Given the description of an element on the screen output the (x, y) to click on. 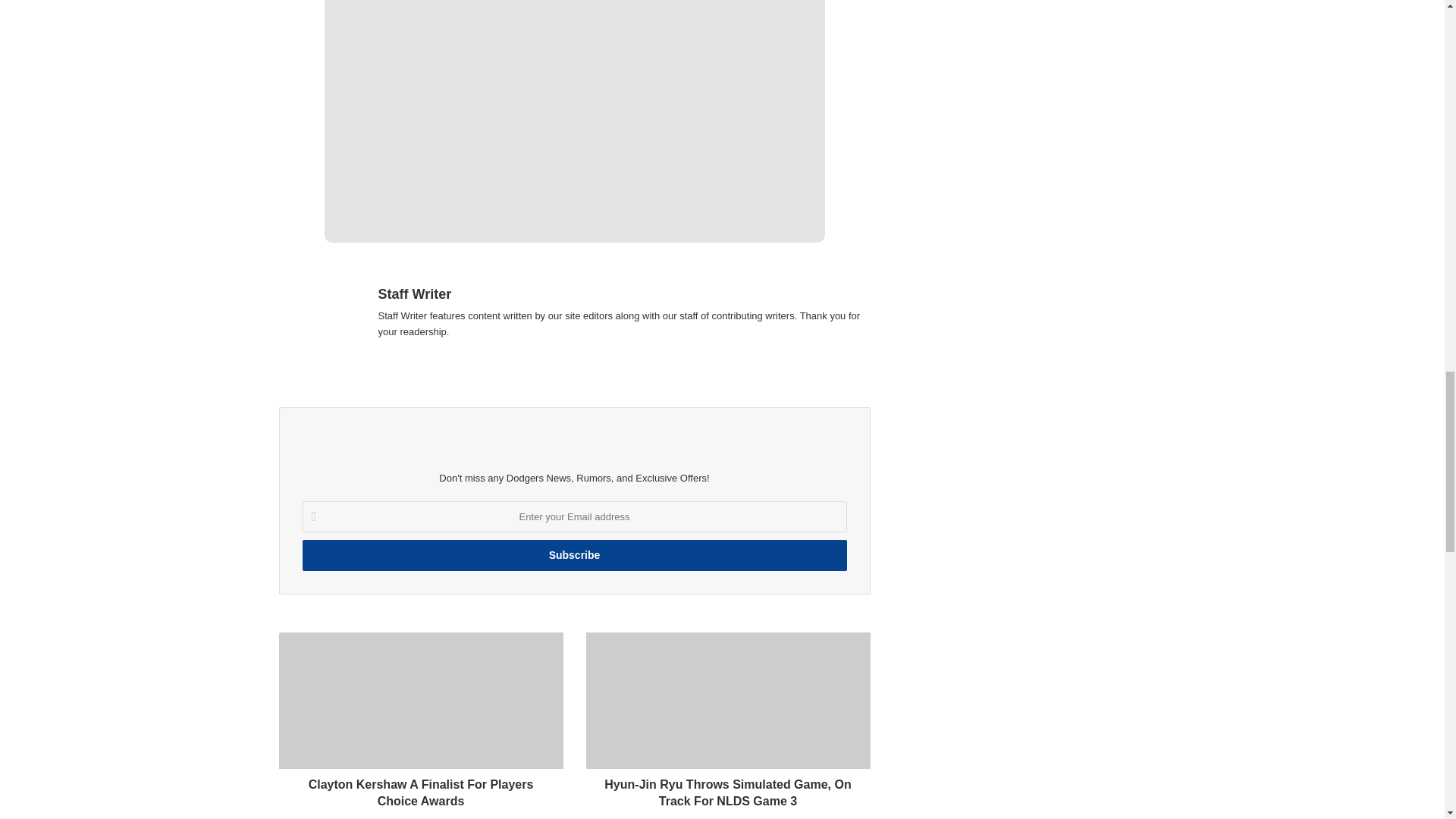
Subscribe (573, 554)
